Given the description of an element on the screen output the (x, y) to click on. 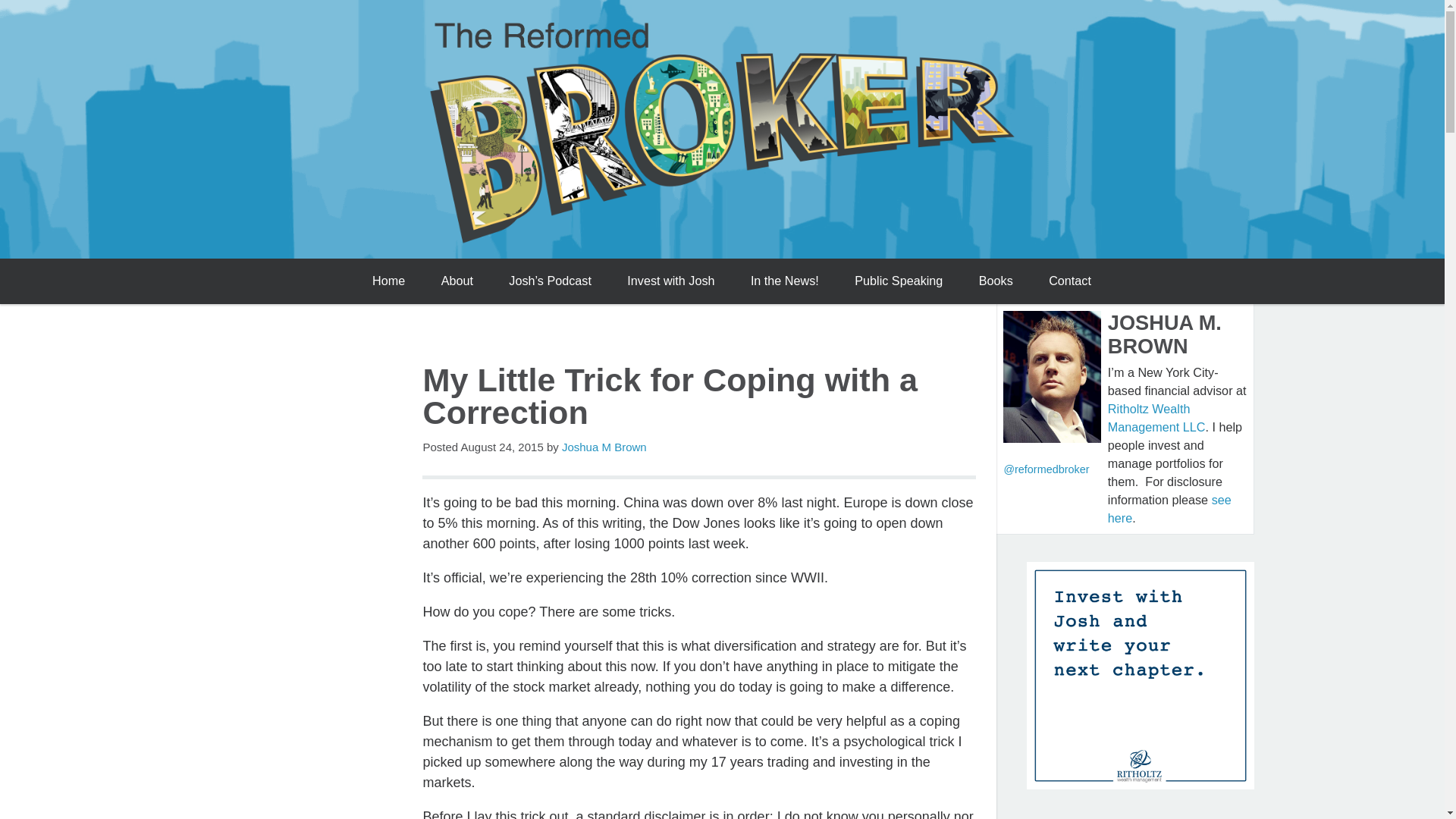
About (456, 280)
Home (388, 280)
Joshua M Brown (604, 446)
Public Speaking (899, 280)
In the News! (784, 280)
Posts by Joshua M Brown (604, 446)
Contact (1069, 280)
Books (995, 280)
Invest with Josh (670, 280)
